Given the description of an element on the screen output the (x, y) to click on. 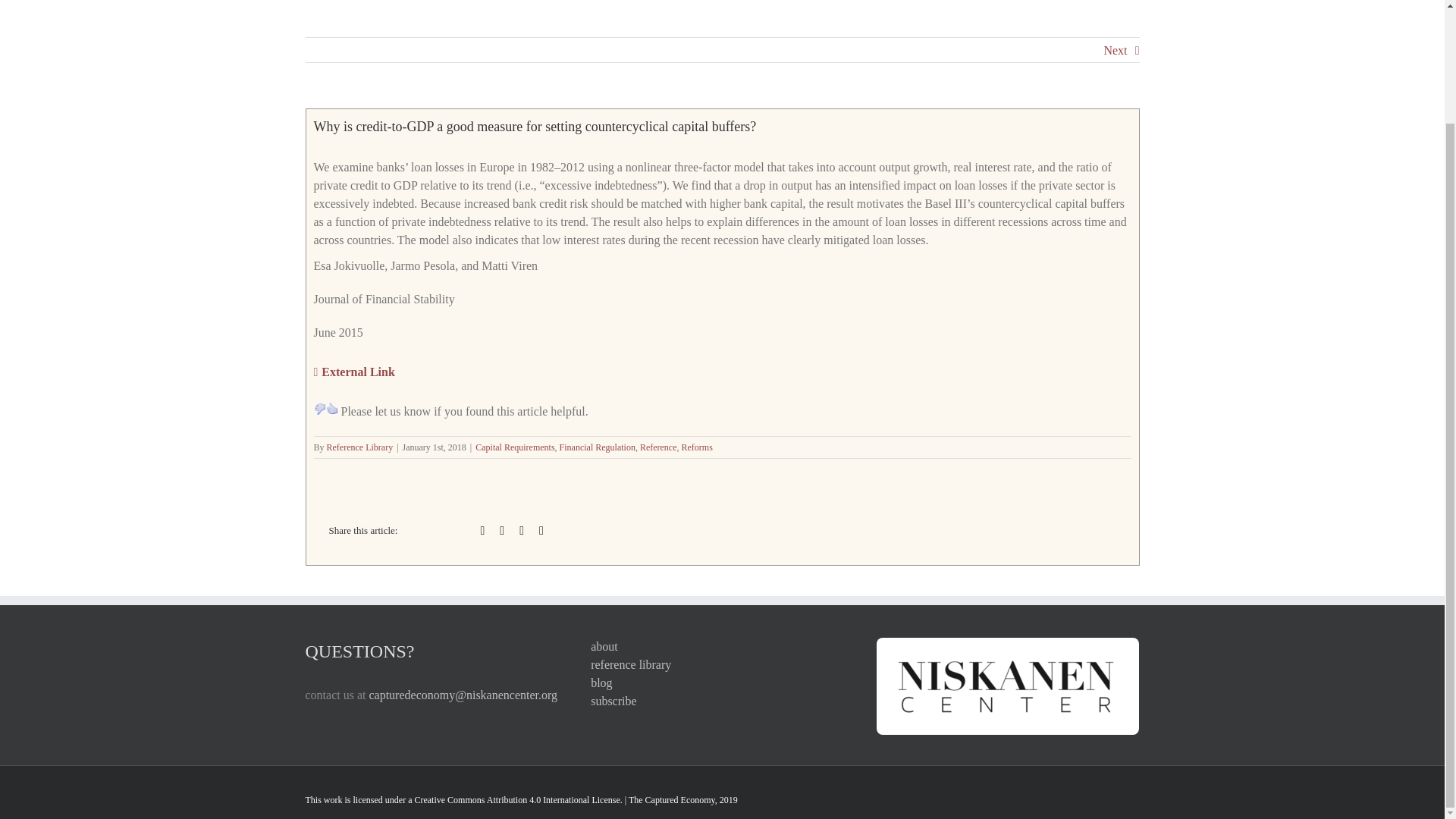
Financial Regulation (596, 447)
Reforms (697, 447)
Posts by Reference Library (359, 447)
Next (1114, 50)
I didn't find this helpful. (320, 408)
about (722, 647)
Reference (658, 447)
subscribe (722, 701)
blog (722, 683)
